Given the description of an element on the screen output the (x, y) to click on. 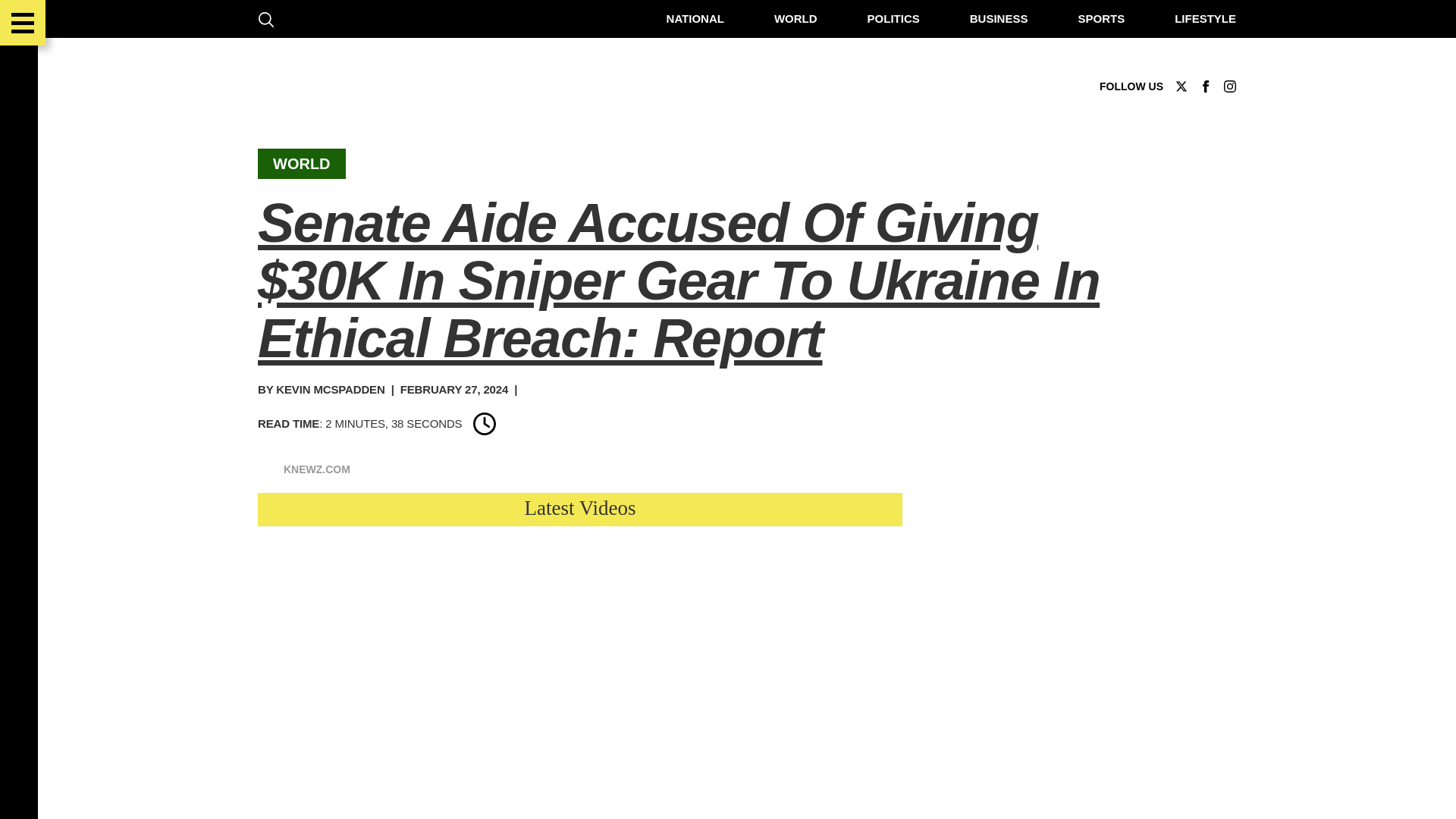
United States (373, 559)
WORLD (789, 18)
Knewz.com (284, 622)
Ukraine (356, 580)
POLITICS (887, 18)
KEVIN MCSPADDEN (324, 389)
WORLD (295, 163)
LIFESTYLE (1199, 18)
BUSINESS (992, 18)
SPORTS (1095, 18)
FEBRUARY 27, 2024 (448, 389)
NATIONAL (689, 18)
